Given the description of an element on the screen output the (x, y) to click on. 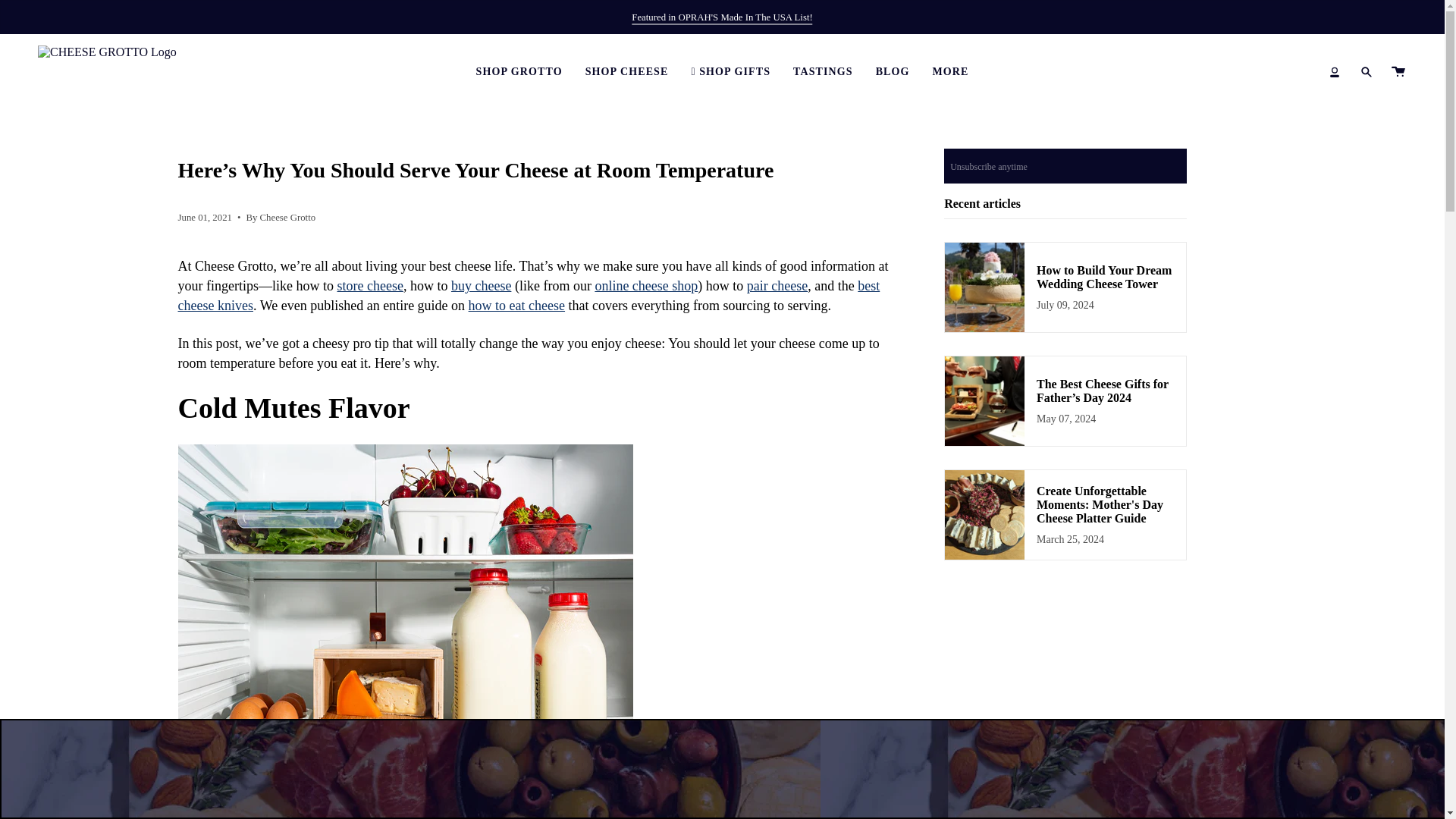
guide to eating cheese (516, 305)
Cheese Grotto Mezzo (721, 16)
how to pair cheese (777, 285)
Featured in OPRAH'S Made In The USA List! (721, 16)
SHOP CHEESE (626, 71)
cheese buying guide (481, 285)
best cheese knives guide (528, 295)
SHOP GROTTO (518, 71)
TASTINGS (822, 71)
shop artisan cheese online (645, 285)
